Given the description of an element on the screen output the (x, y) to click on. 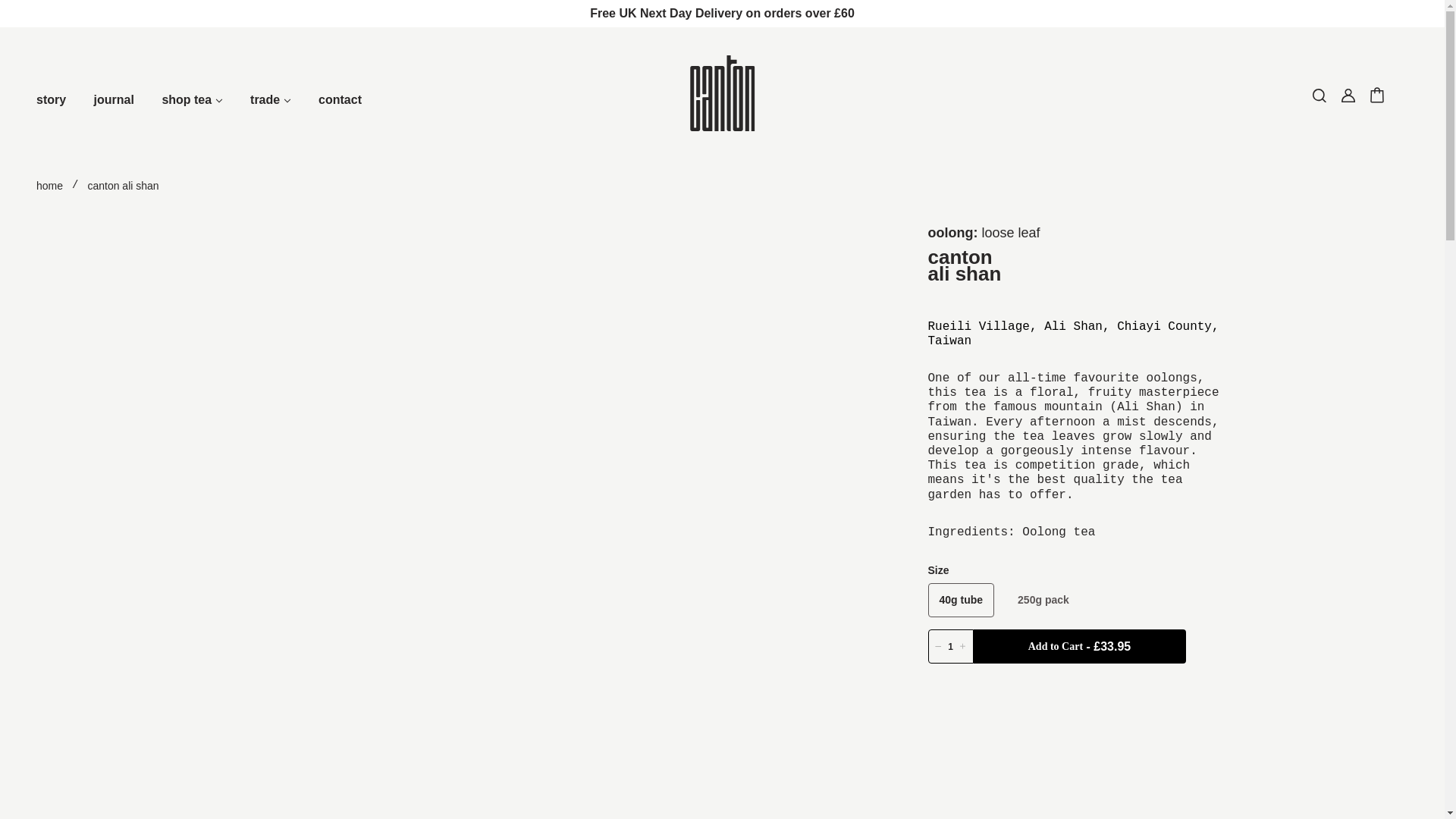
1 (951, 646)
Canton Tea (722, 127)
Canton Tea (722, 127)
journal (114, 114)
shop tea (191, 114)
